Given the description of an element on the screen output the (x, y) to click on. 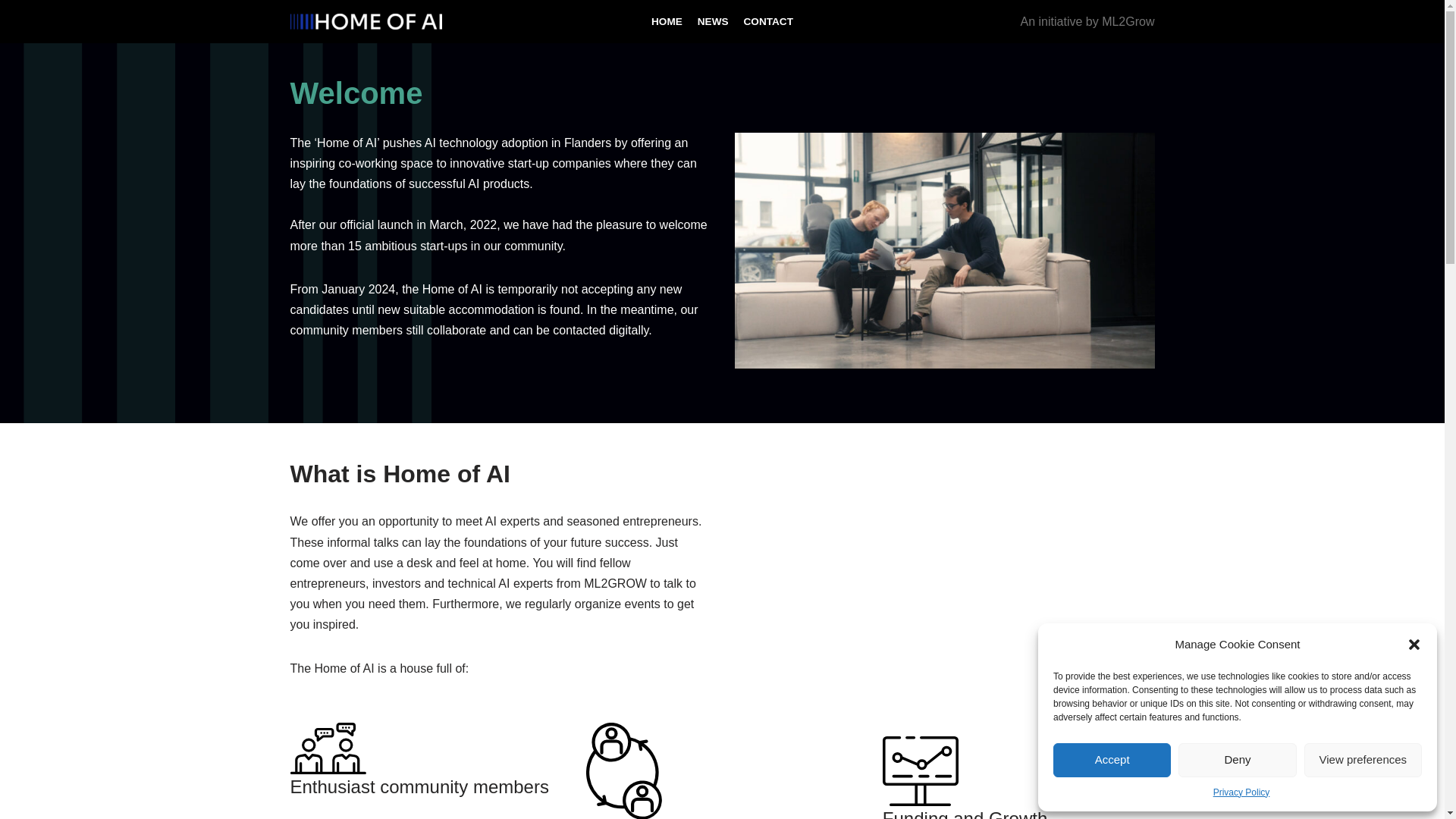
Accept (1111, 759)
Deny (1236, 759)
View preferences (1363, 759)
HOME (666, 21)
Skip to content (11, 31)
Privacy Policy (1240, 792)
Home of AI (365, 21)
CONTACT (768, 21)
NEWS (713, 21)
ML2Grow (1128, 21)
